Given the description of an element on the screen output the (x, y) to click on. 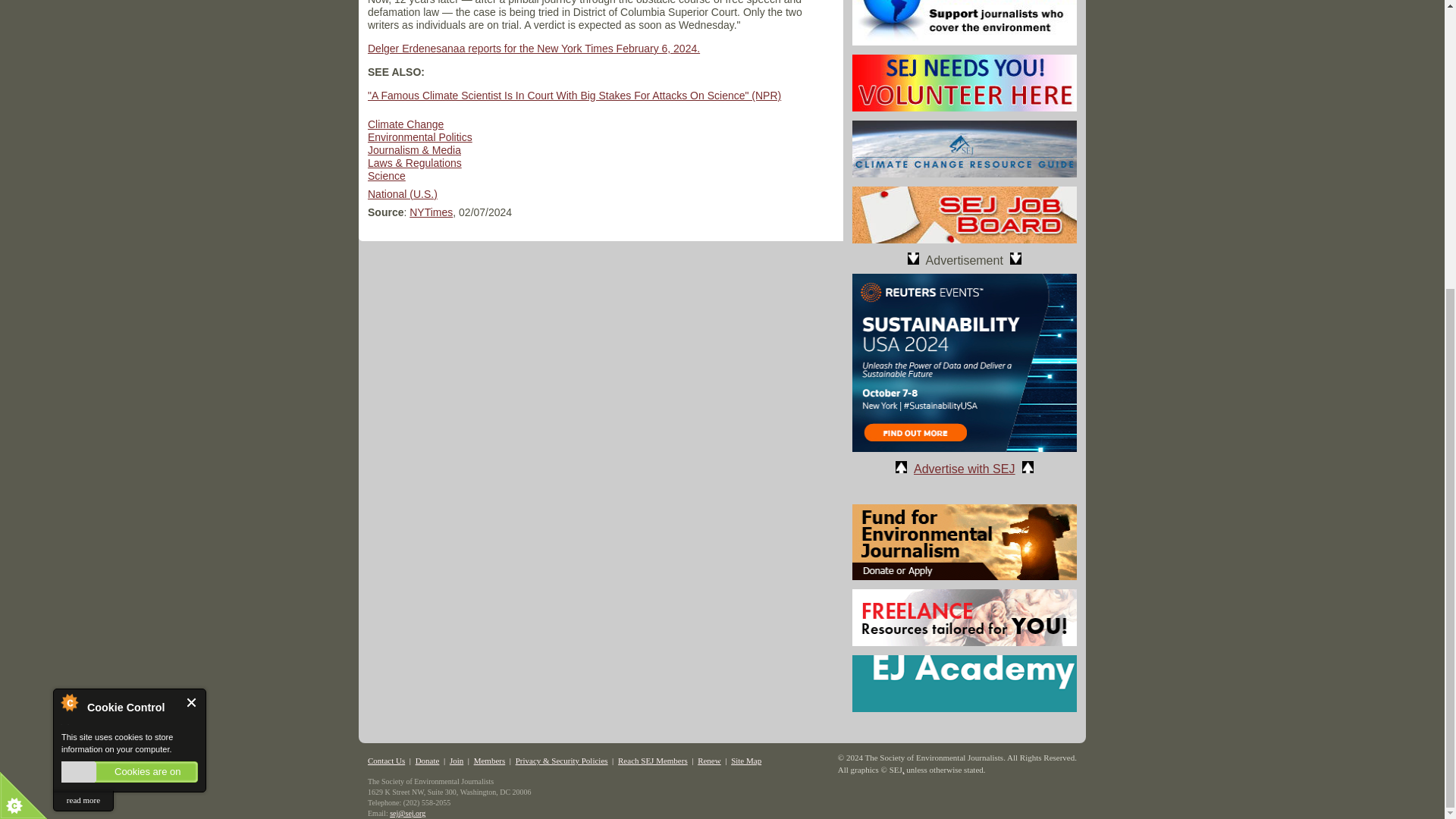
Close (191, 264)
Cookies are on (129, 333)
read more (82, 362)
